Given the description of an element on the screen output the (x, y) to click on. 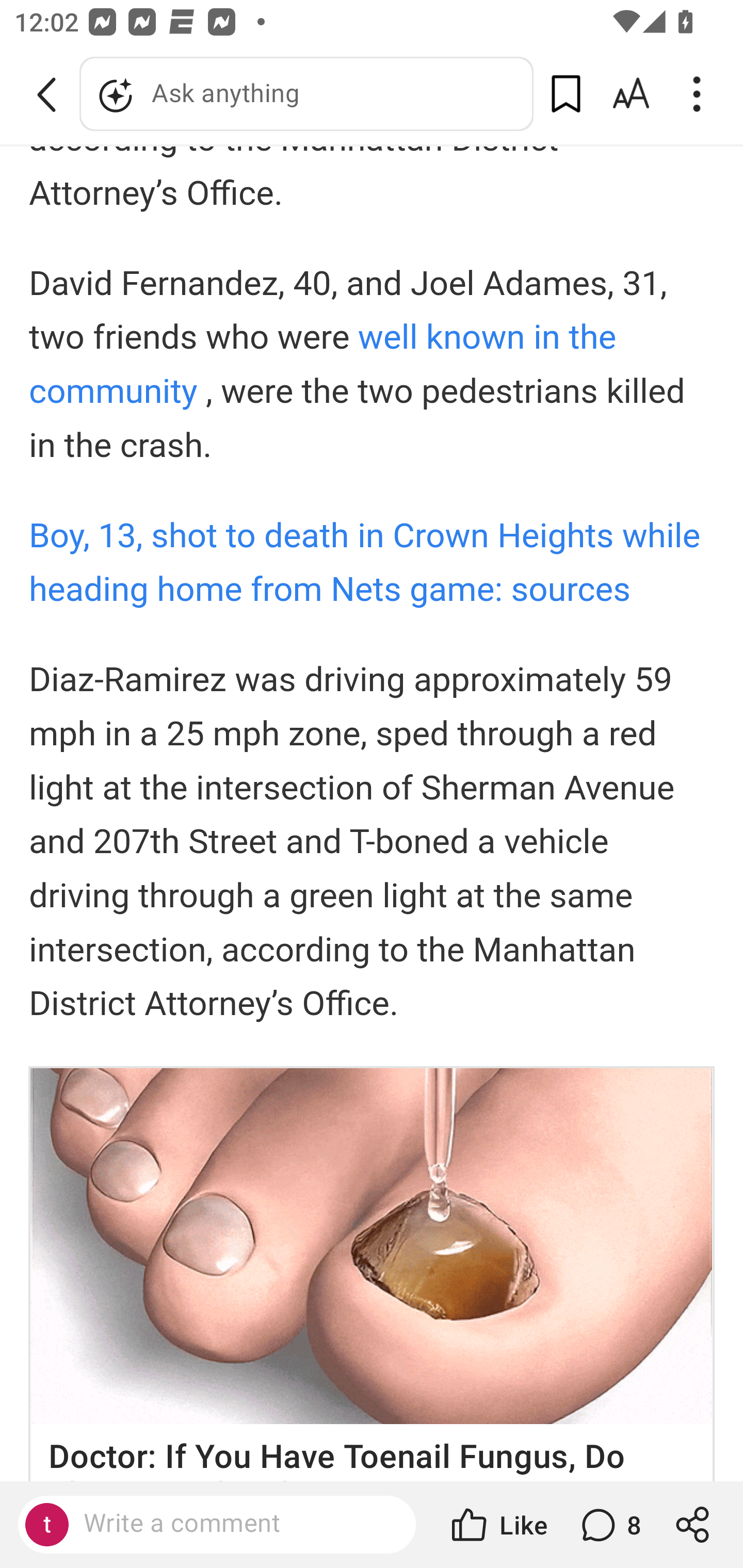
Ask anything (306, 93)
well known in the community  (322, 365)
Like (497, 1524)
8 (608, 1524)
Write a comment (234, 1523)
